Given the description of an element on the screen output the (x, y) to click on. 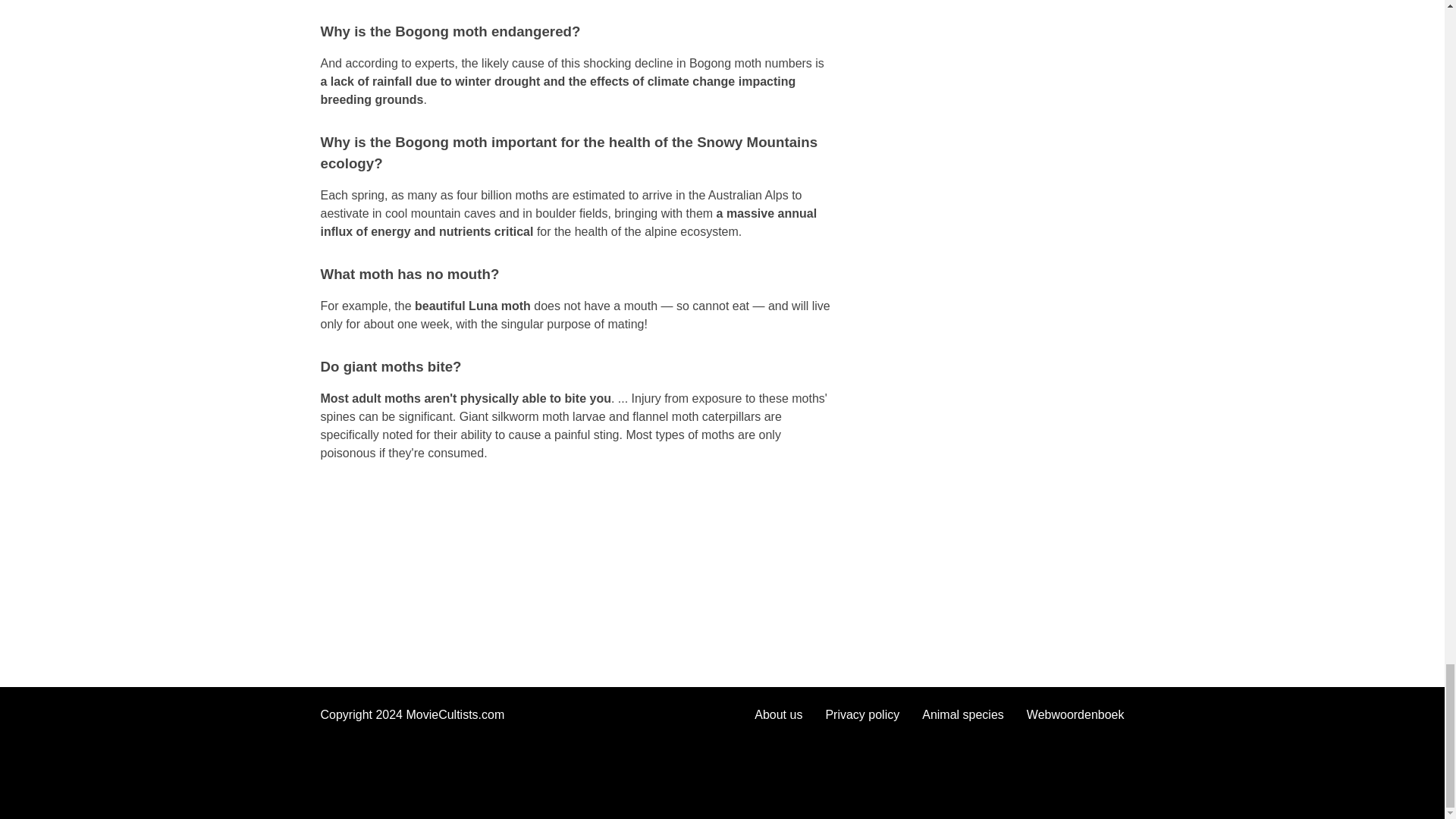
Privacy policy (862, 714)
Webwoordenboek (1075, 714)
About us (778, 714)
Animal species (962, 714)
